Given the description of an element on the screen output the (x, y) to click on. 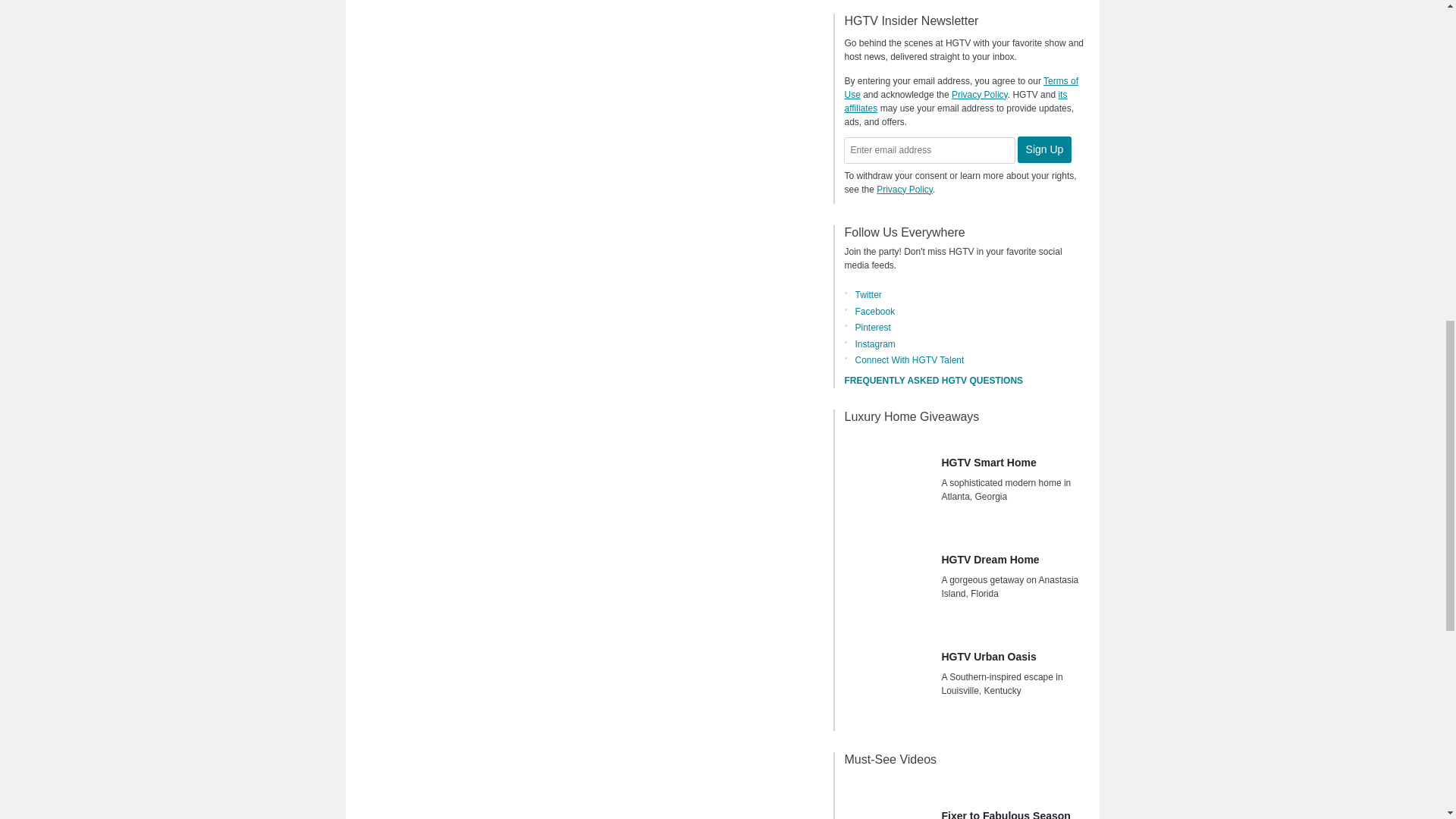
HGTV Dream Home (887, 580)
HGTV Urban Oasis (887, 676)
HGTV Smart Home (887, 482)
Fixer to Fabulous Season One Highlights (887, 800)
